Given the description of an element on the screen output the (x, y) to click on. 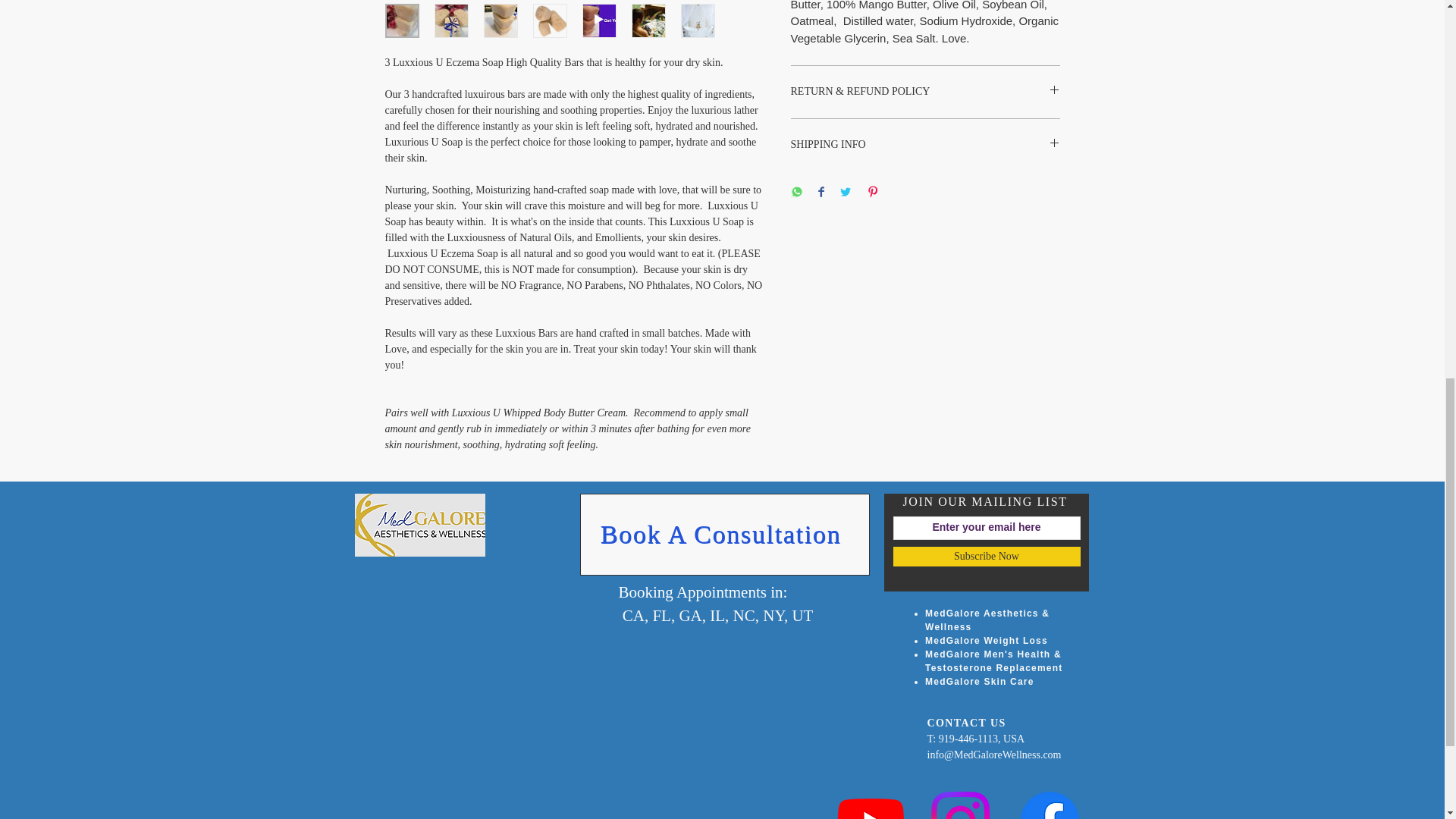
SHIPPING INFO (924, 145)
